Given the description of an element on the screen output the (x, y) to click on. 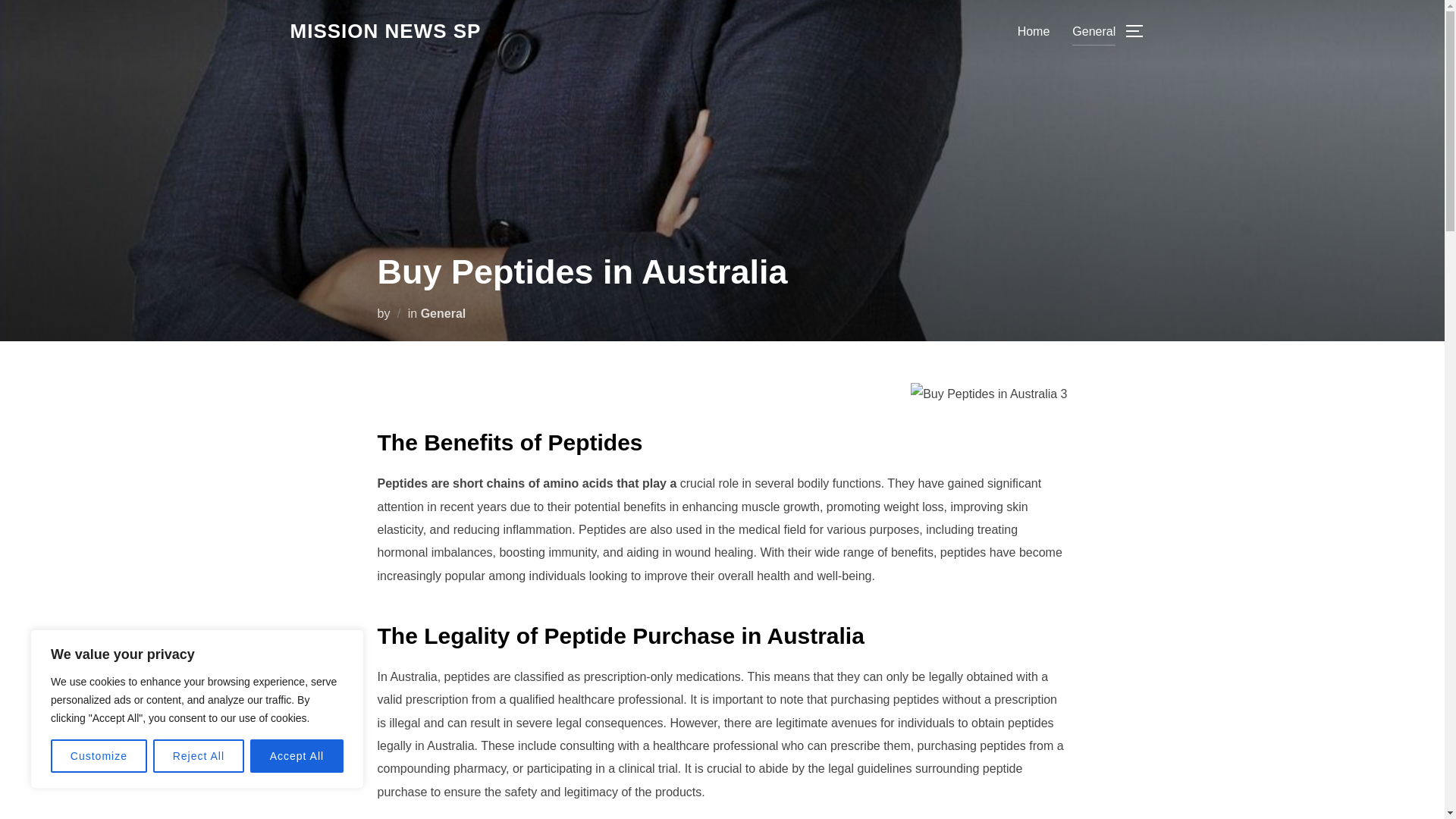
Accept All (296, 756)
Home (1033, 30)
Customize (98, 756)
MISSION NEWS SP (384, 31)
Reject All (198, 756)
Blog (384, 31)
General (1093, 30)
